Given the description of an element on the screen output the (x, y) to click on. 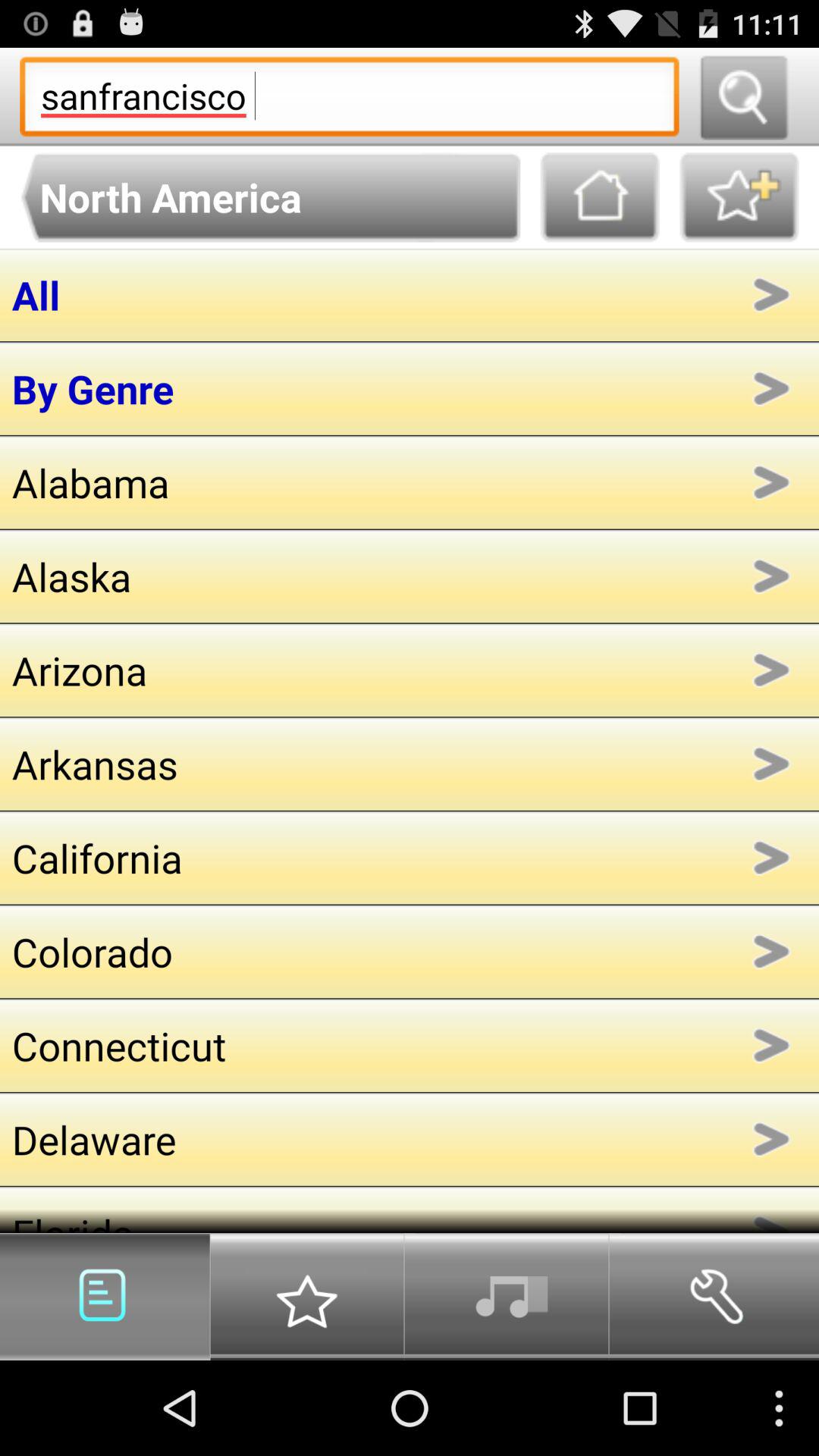
search the option (743, 96)
